Given the description of an element on the screen output the (x, y) to click on. 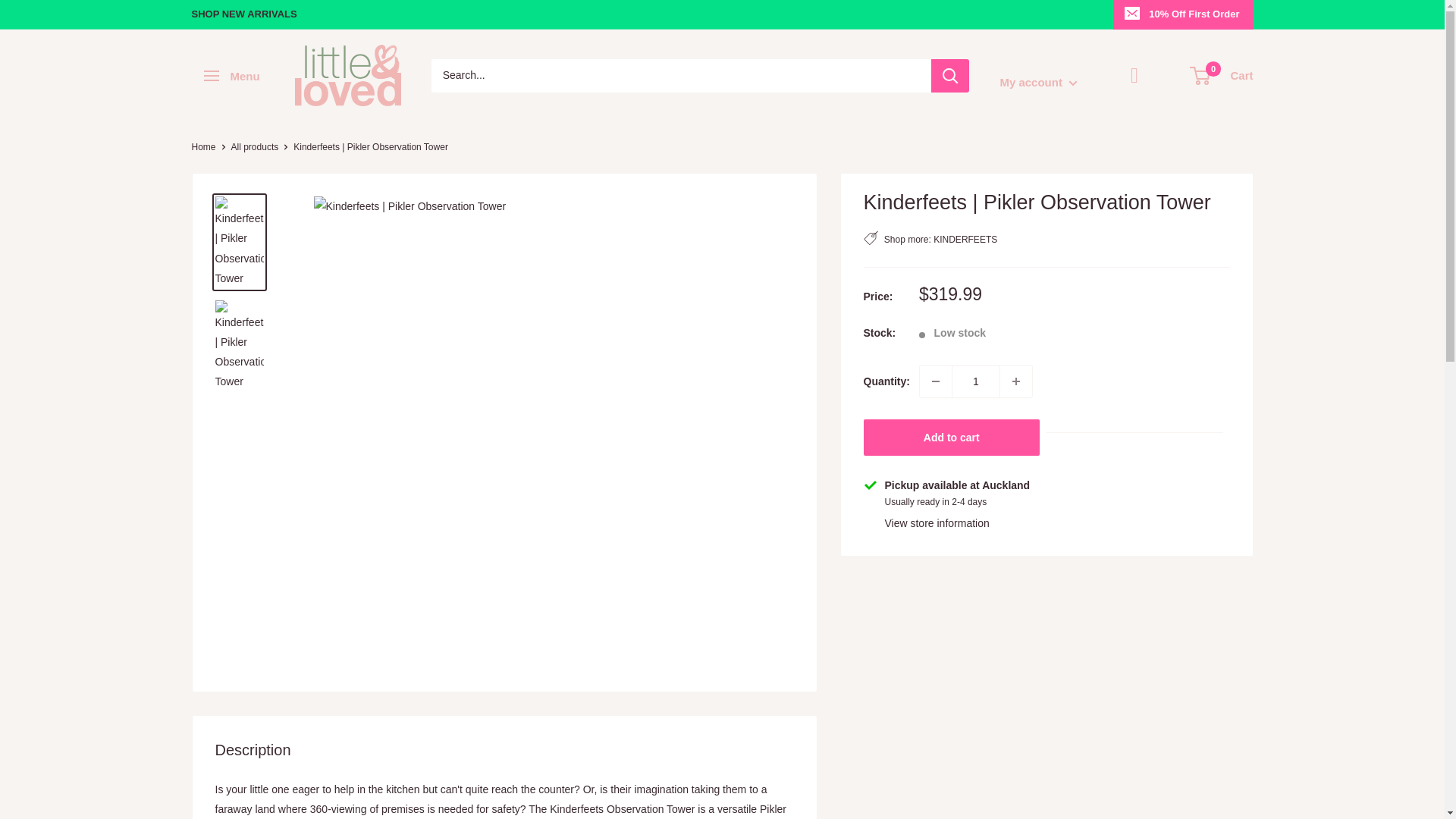
Decrease quantity by 1 (936, 381)
SHOP NEW ARRIVALS (243, 14)
1 (976, 381)
Increase quantity by 1 (1016, 381)
